Given the description of an element on the screen output the (x, y) to click on. 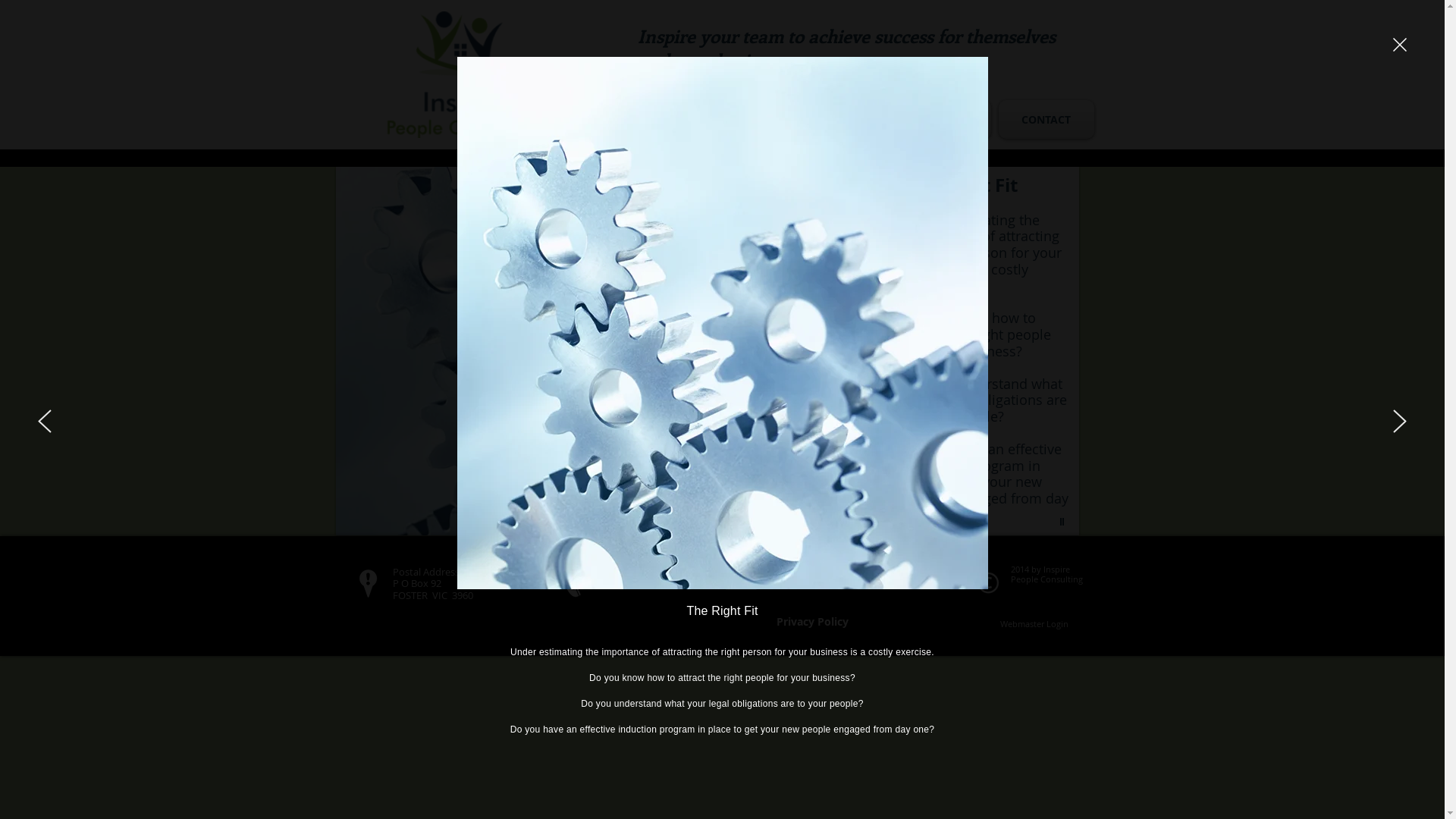
SERVICES Element type: text (845, 119)
HOME Element type: text (662, 119)
GIFlogoColorSmall.gif Element type: hover (462, 73)
CLIENTS Element type: text (945, 119)
inspirepeopleconsulting@gmail.com Element type: text (856, 582)
Privacy Policy Element type: text (812, 622)
CONTACT Element type: text (1044, 119)
ABOUT Element type: text (748, 119)
Webmaster Login Element type: text (1034, 623)
